Given the description of an element on the screen output the (x, y) to click on. 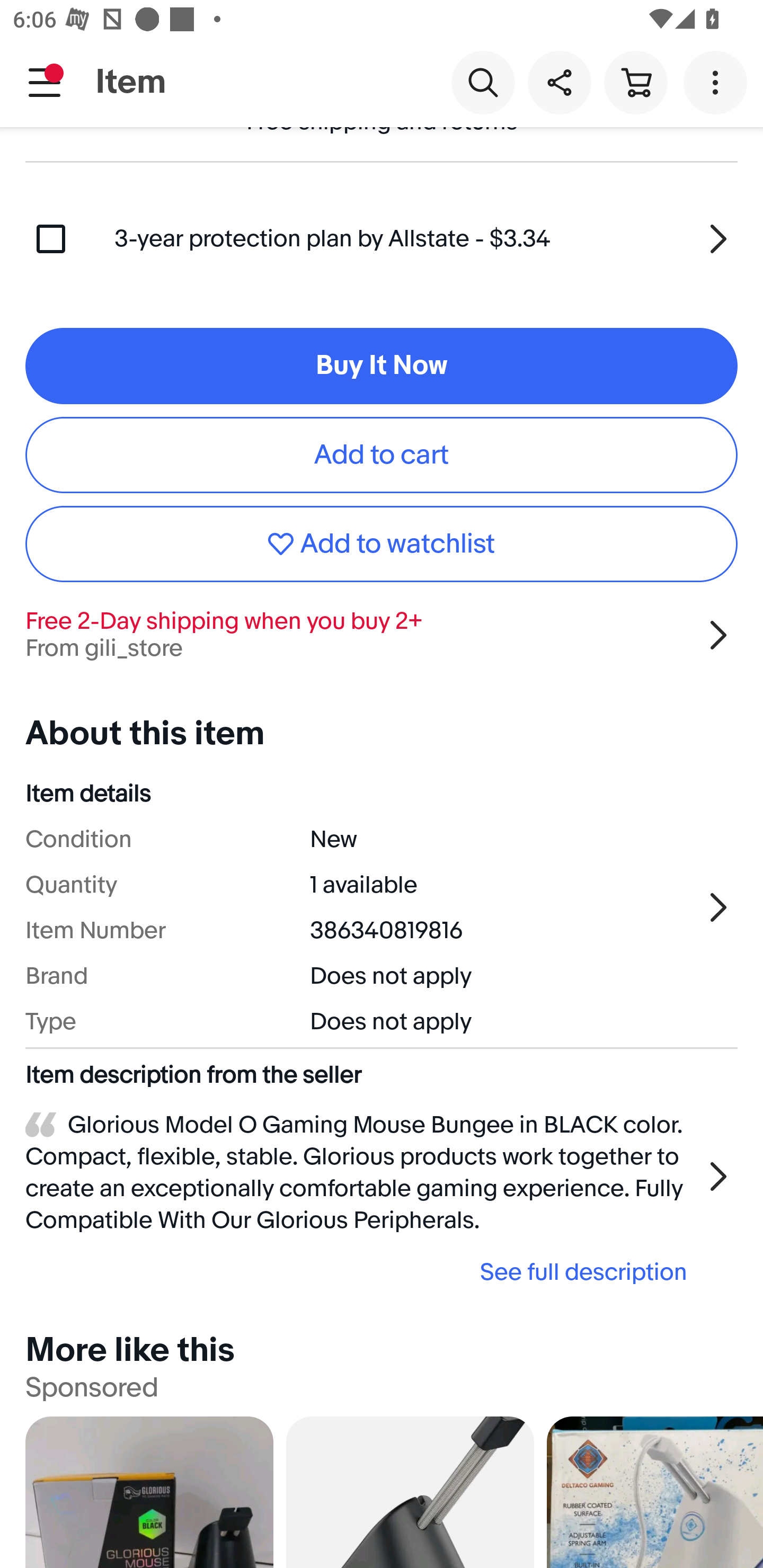
Main navigation, notification is pending, open (44, 82)
Search (482, 81)
Share this item (559, 81)
Cart button shopping cart (635, 81)
More options (718, 81)
3-year protection plan by Allstate - $3.34 (425, 238)
Buy It Now (381, 365)
Add to cart (381, 455)
Add to watchlist (381, 543)
See full description (362, 1272)
